Given the description of an element on the screen output the (x, y) to click on. 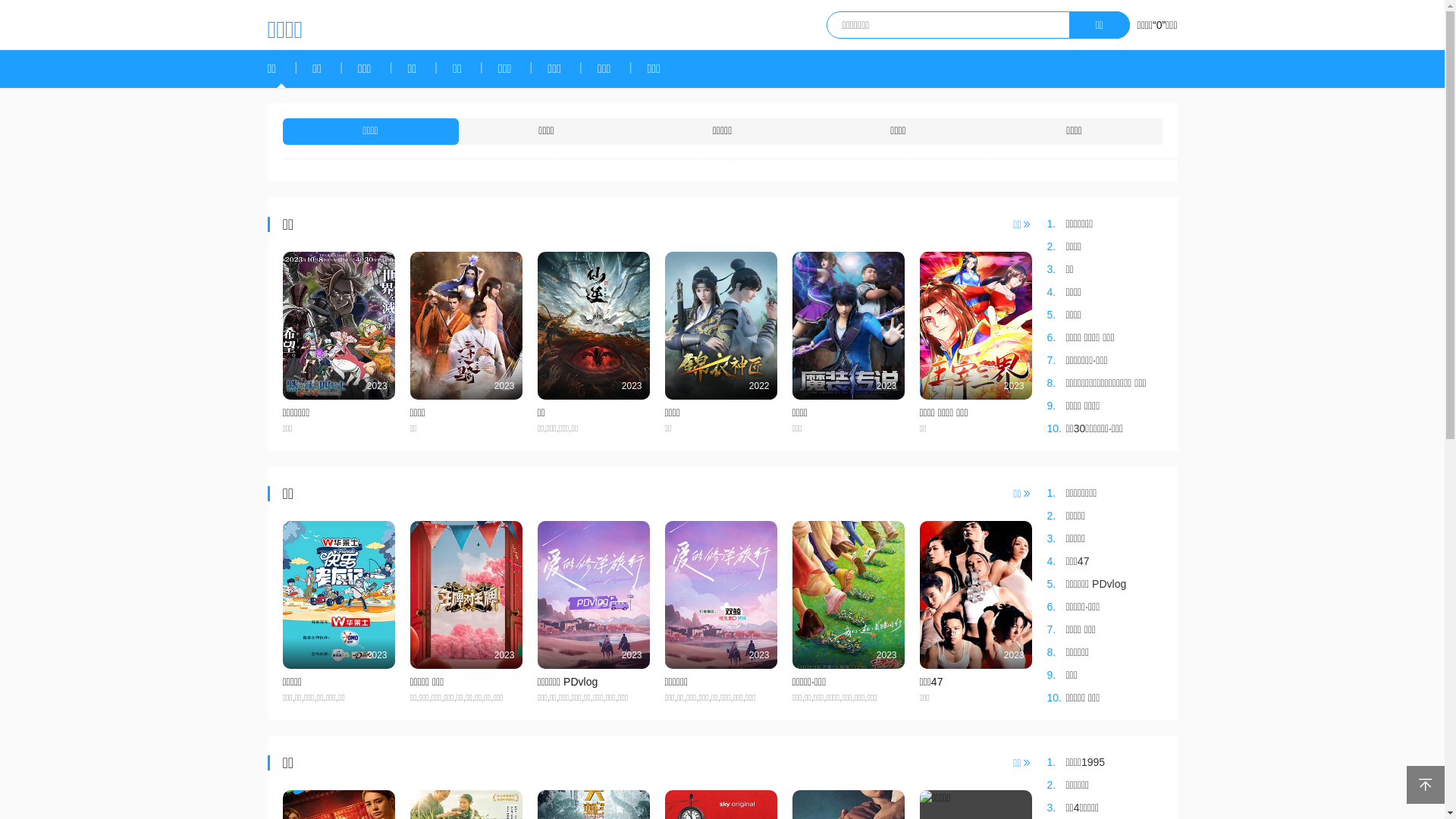
2023 Element type: text (847, 325)
2023 Element type: text (975, 594)
2023 Element type: text (847, 594)
2022 Element type: text (720, 325)
2023 Element type: text (338, 594)
2023 Element type: text (465, 325)
2023 Element type: text (465, 594)
2023 Element type: text (975, 325)
2023 Element type: text (592, 594)
2023 Element type: text (720, 594)
2023 Element type: text (592, 325)
2023 Element type: text (338, 325)
